Given the description of an element on the screen output the (x, y) to click on. 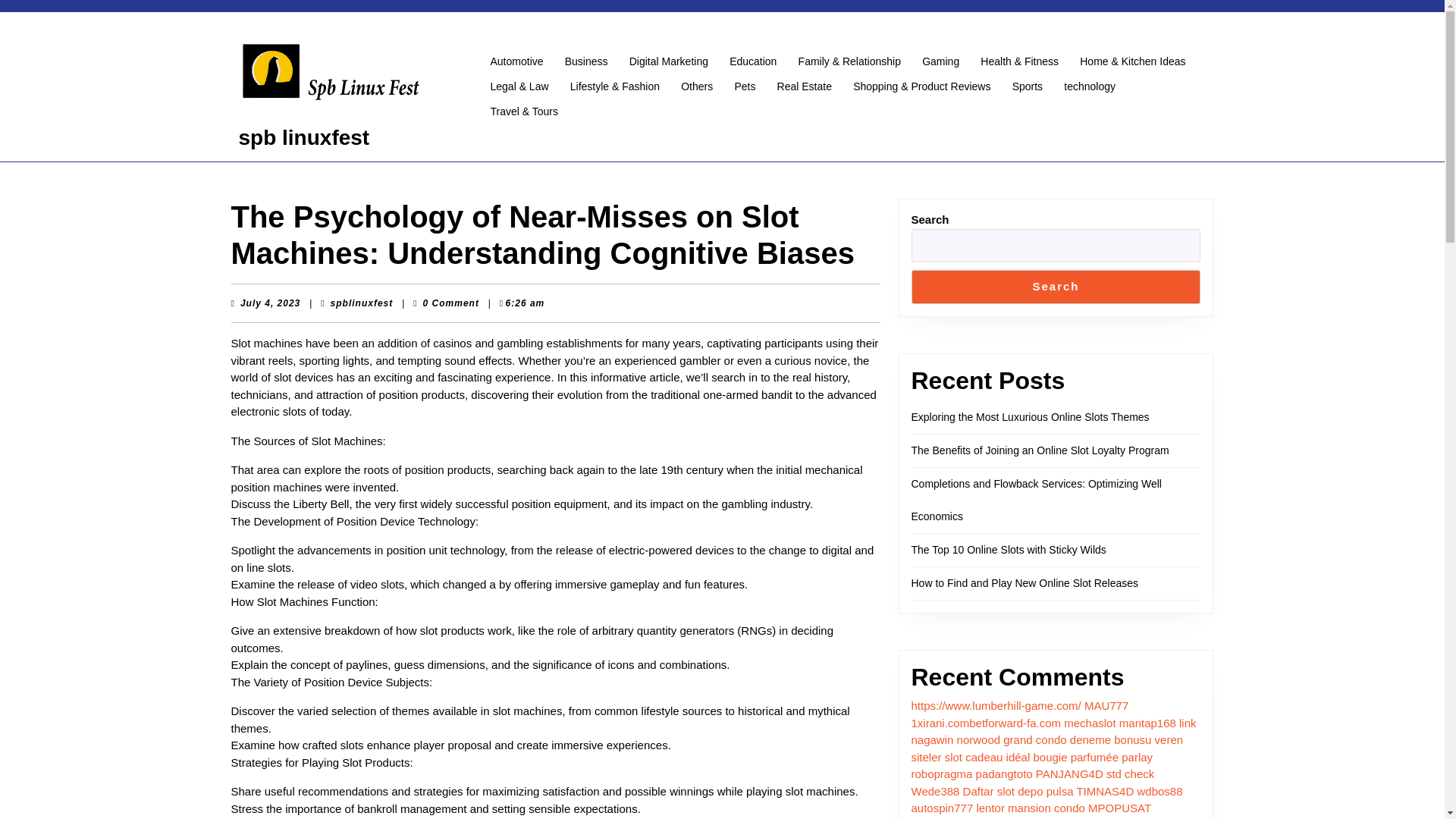
Business (586, 61)
The Benefits of Joining an Online Slot Loyalty Program (1040, 450)
Sports (1027, 86)
Real Estate (804, 86)
technology (1089, 86)
The Top 10 Online Slots with Sticky Wilds (1008, 549)
Education (753, 61)
Digital Marketing (668, 61)
Others (696, 86)
